Given the description of an element on the screen output the (x, y) to click on. 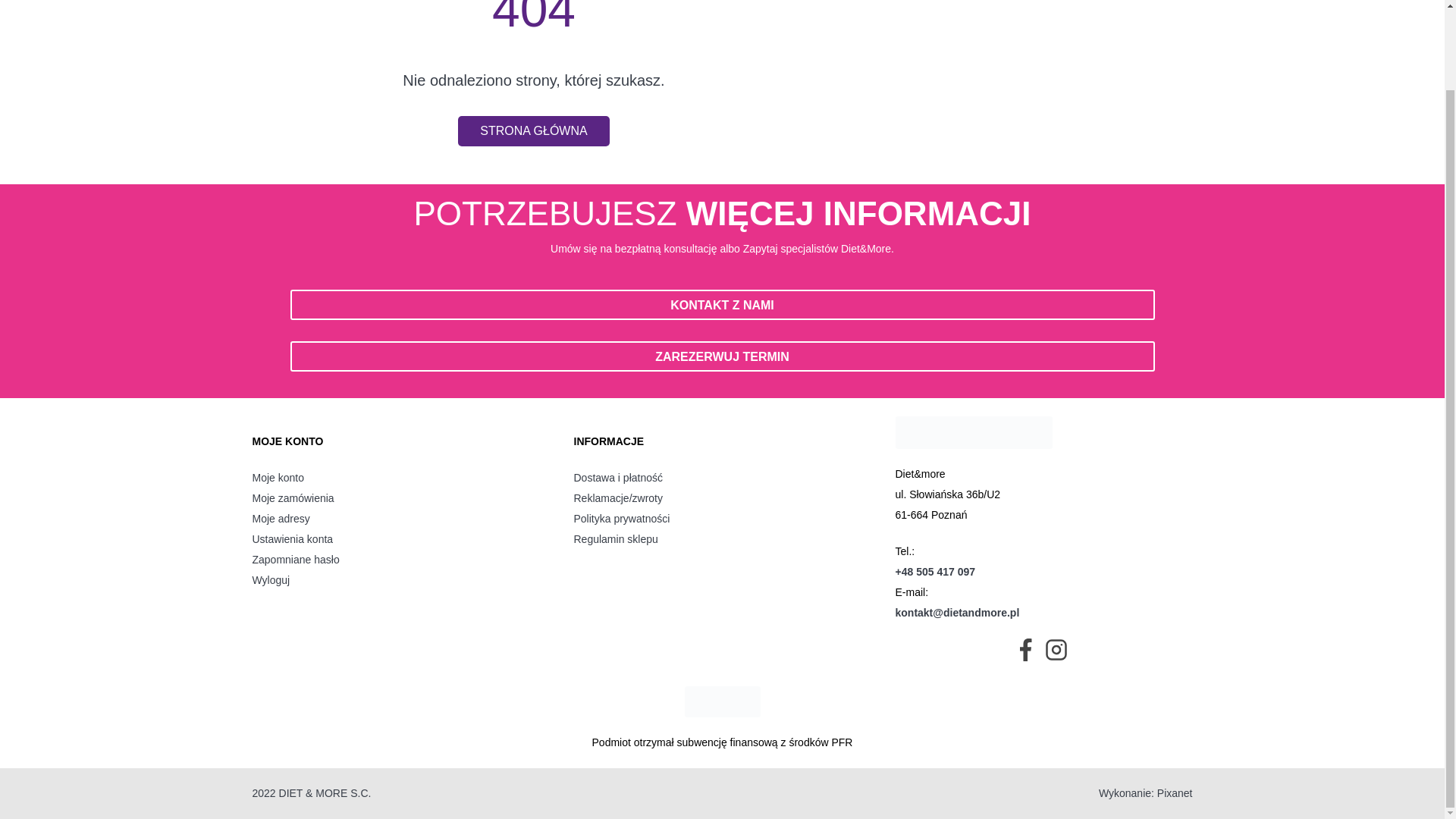
Wyloguj (399, 580)
Moje adresy (399, 518)
ZAREZERWUJ TERMIN (721, 356)
KONTAKT Z NAMI (721, 304)
Regulamin sklepu (721, 539)
Ustawienia konta (399, 539)
Moje konto (399, 477)
